Given the description of an element on the screen output the (x, y) to click on. 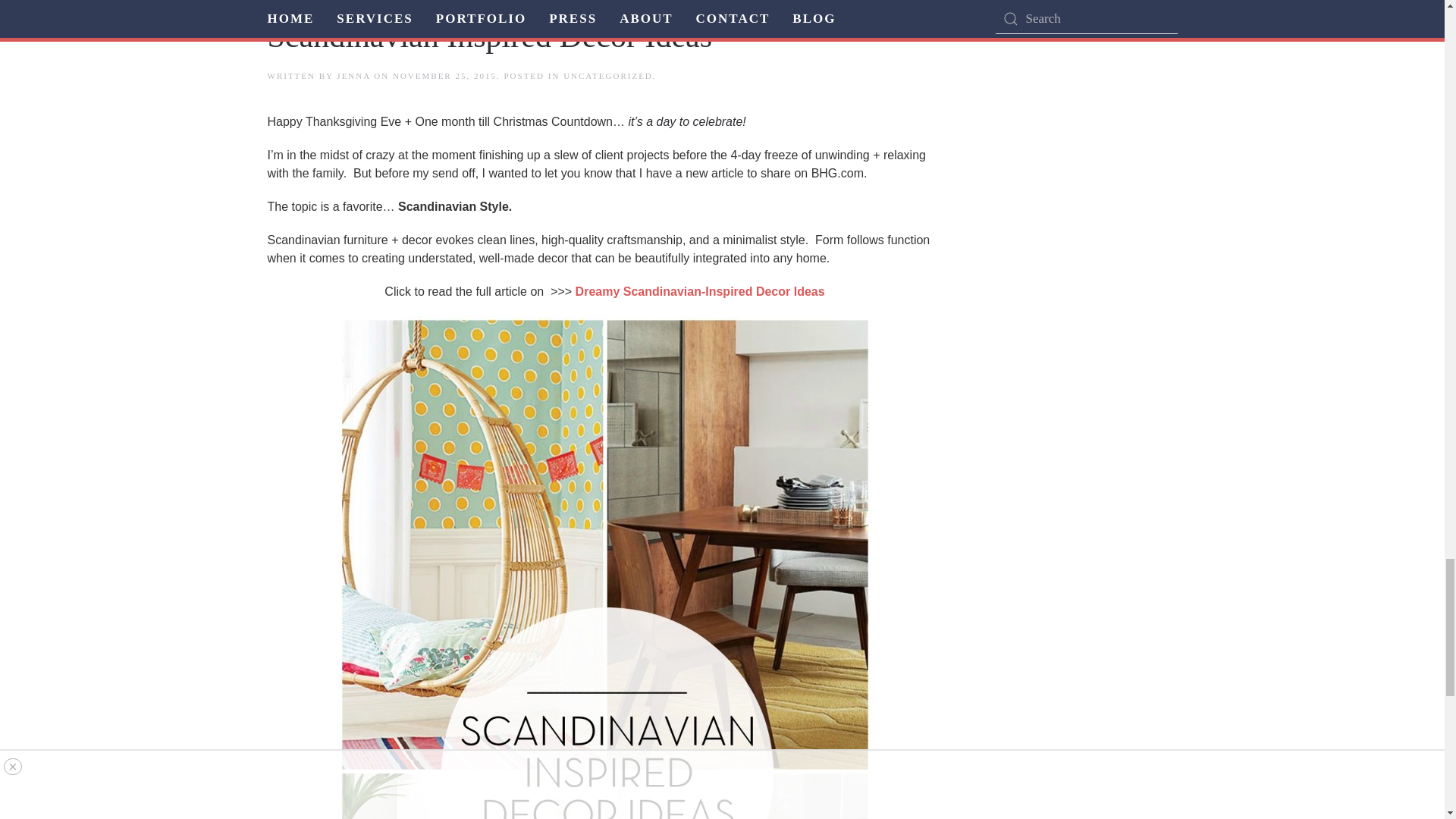
Dreamy Scandinavian-Inspired Decor Ideas (700, 291)
Scandinavian Inspired Decor Ideas (488, 36)
JENNA (352, 75)
UNCATEGORIZED (607, 75)
